Given the description of an element on the screen output the (x, y) to click on. 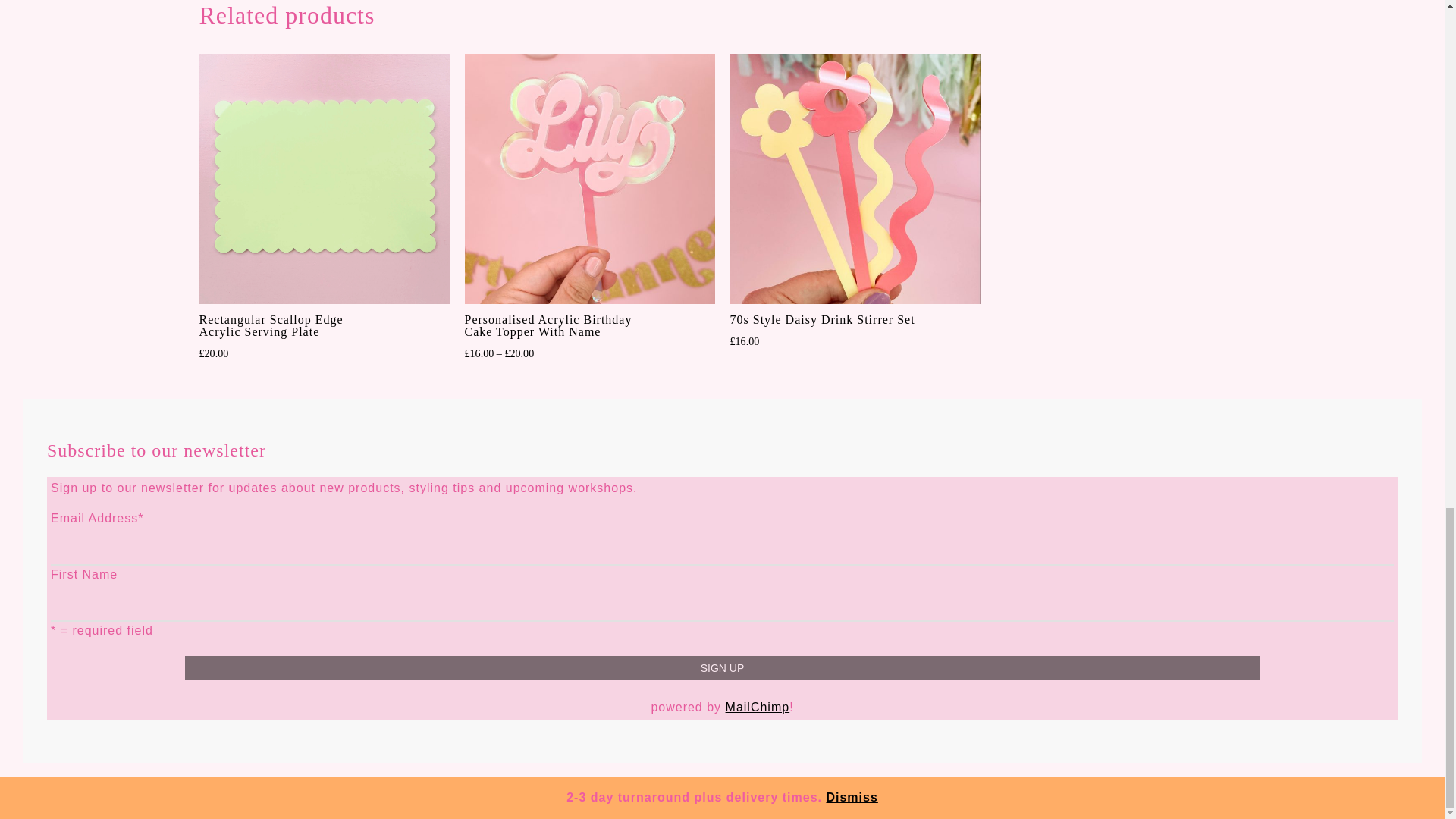
Sign up (721, 668)
